Given the description of an element on the screen output the (x, y) to click on. 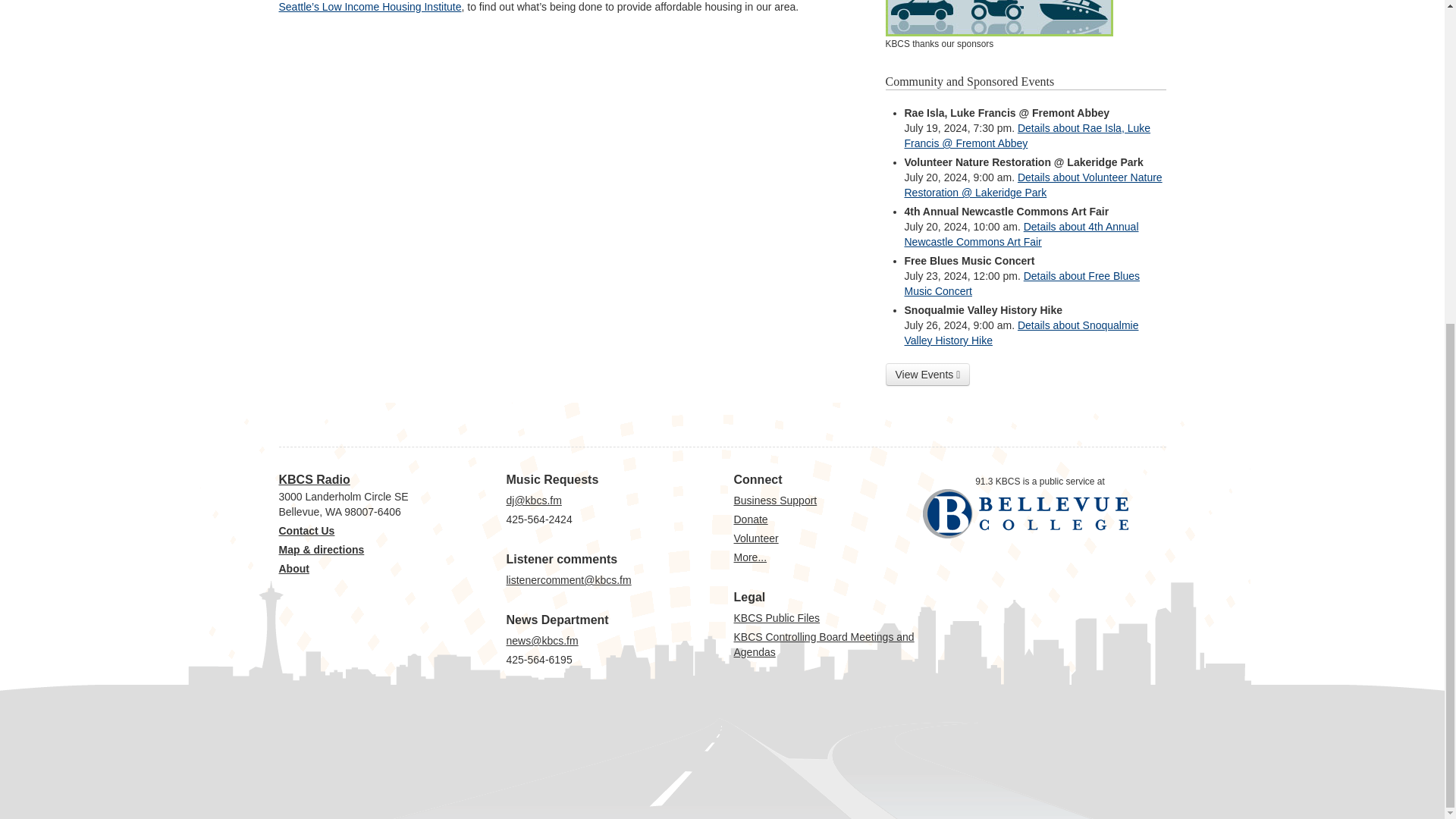
Details about 4th Annual Newcastle Commons Art Fair (1021, 234)
Details about Snoqualmie Valley History Hike (1021, 332)
Details about Free Blues Music Concert (1022, 283)
